Given the description of an element on the screen output the (x, y) to click on. 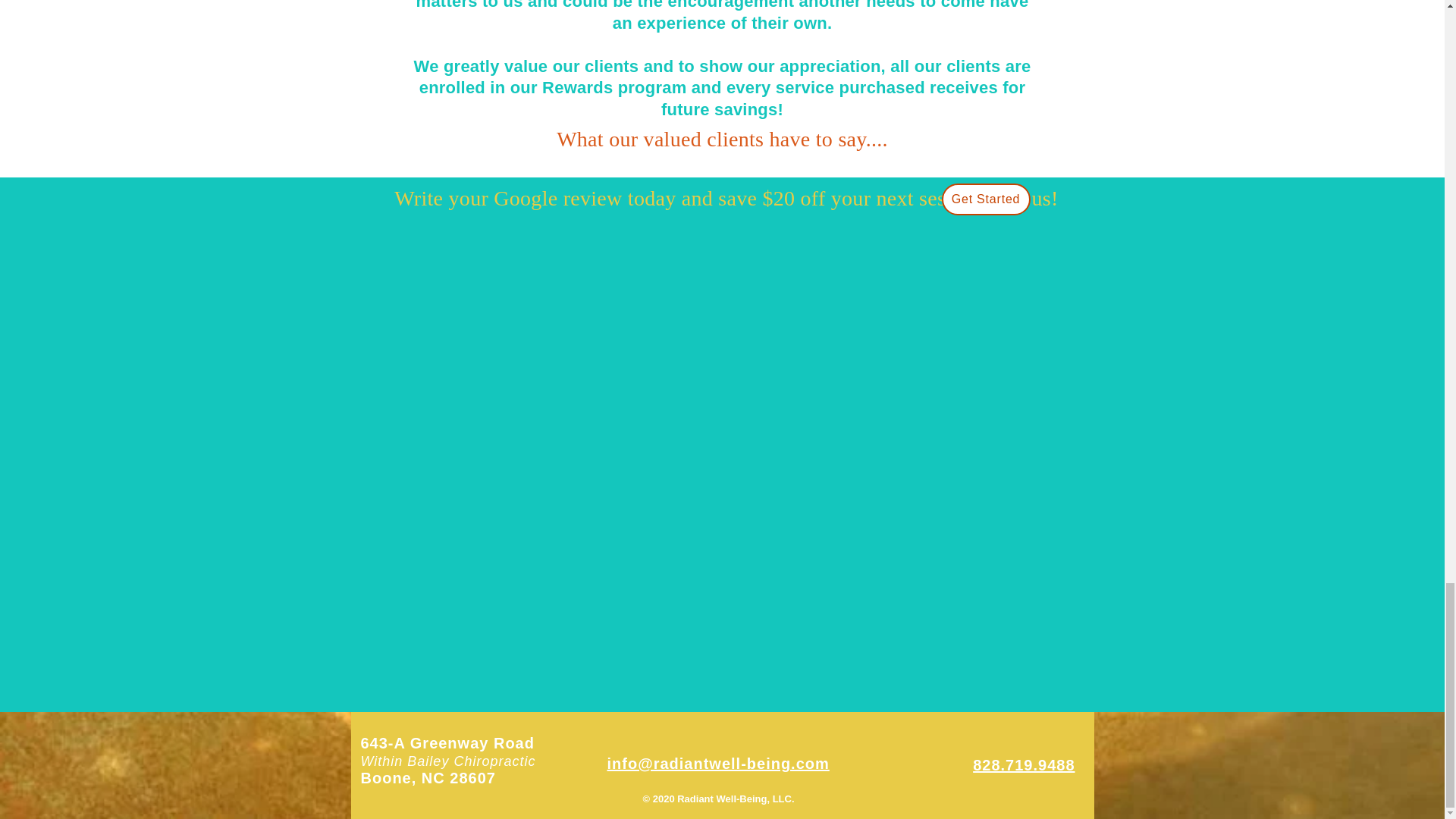
Get Started (986, 199)
828.719.9488 (1023, 764)
